Given the description of an element on the screen output the (x, y) to click on. 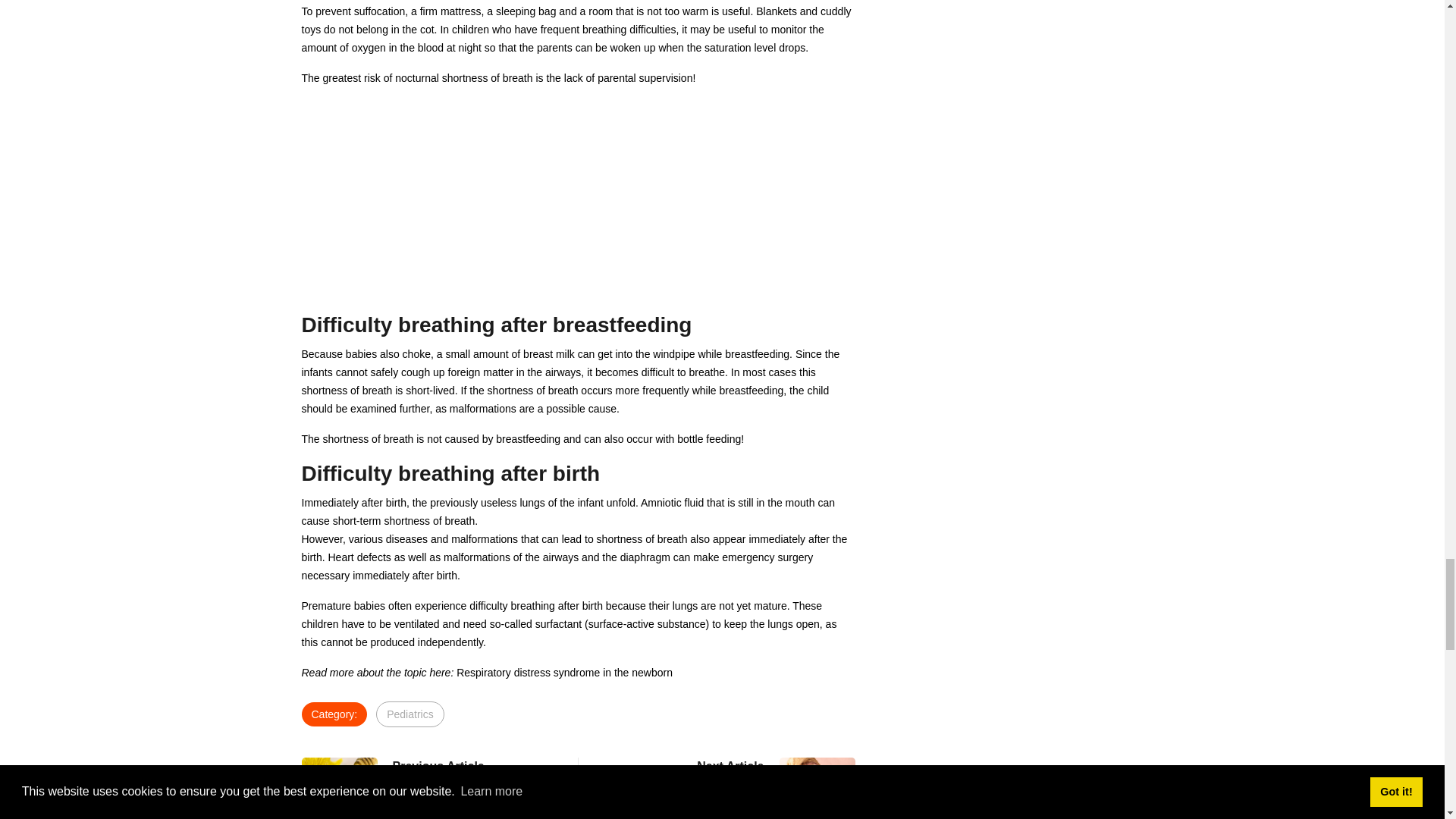
Pediatrics (473, 774)
